Given the description of an element on the screen output the (x, y) to click on. 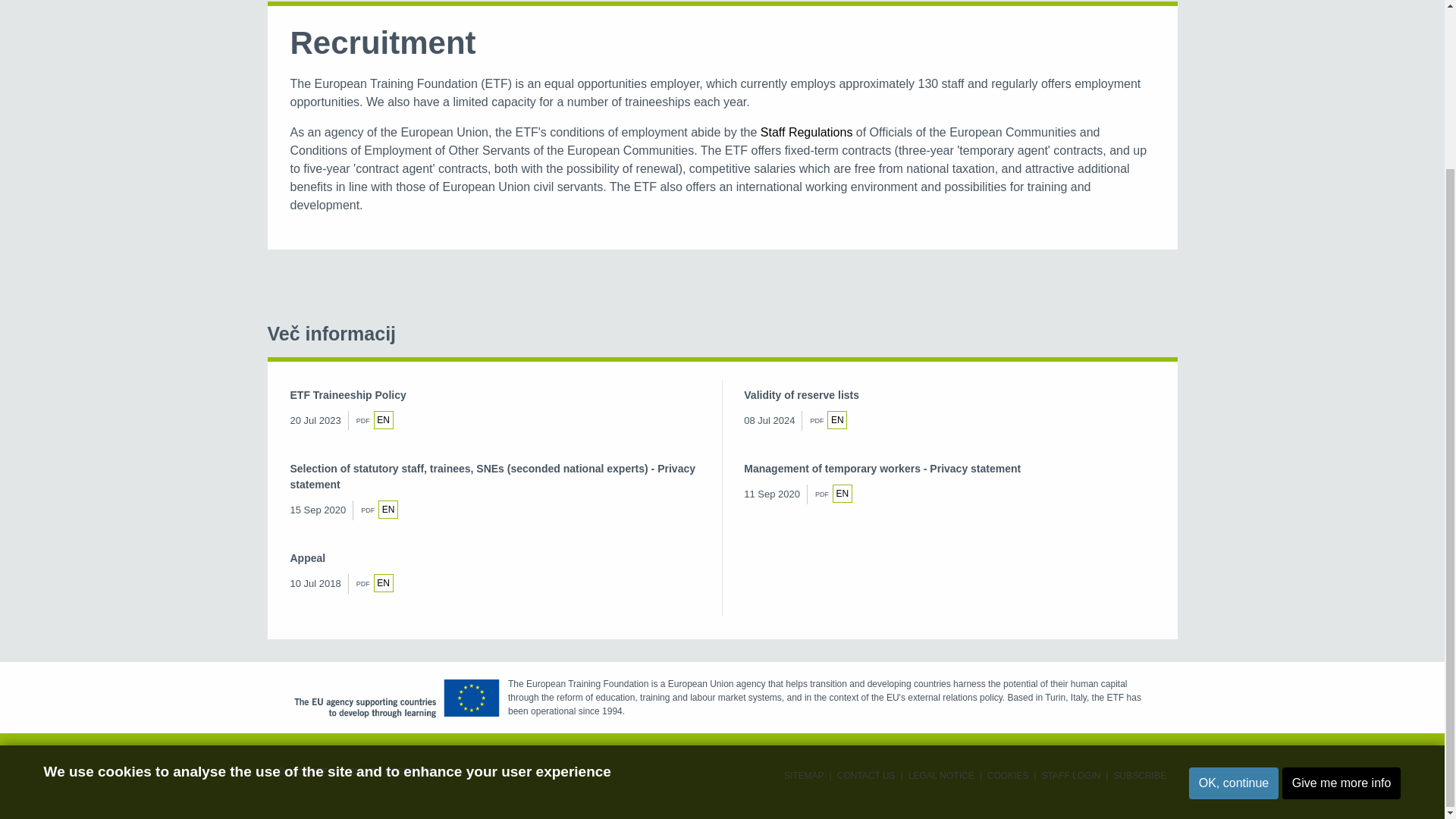
pdf Management of temporary workers - Privacy statement (841, 493)
pdf Validity of reserve lists (837, 420)
pdf ETF Traineeship Policy (383, 420)
pdf  (383, 583)
